Given the description of an element on the screen output the (x, y) to click on. 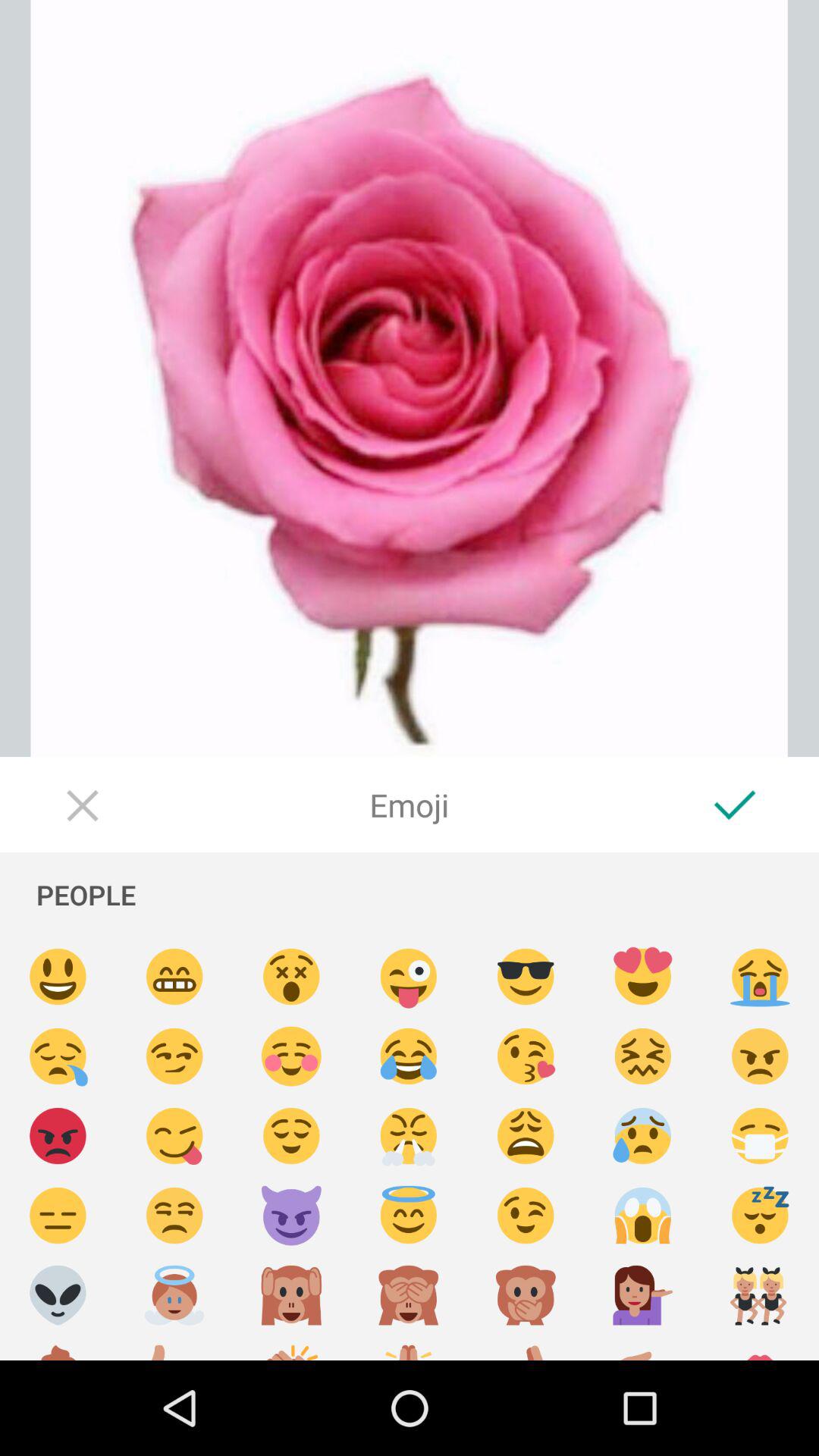
click to add emoji of winking face with tongue out (408, 976)
